Given the description of an element on the screen output the (x, y) to click on. 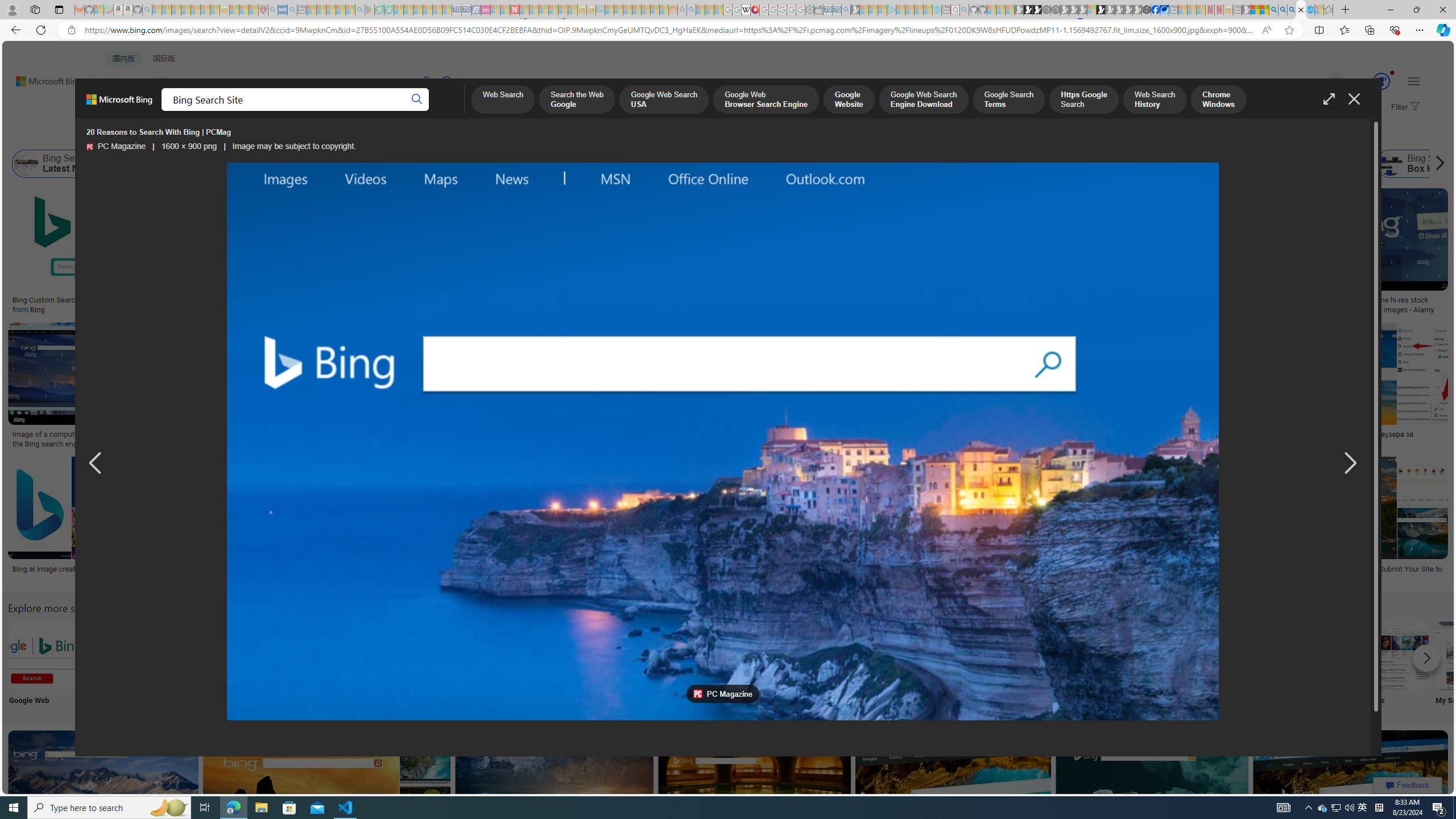
Google Web Search USA (663, 100)
FIX: Downloading proxy script message on Google Chrome (526, 573)
Bing Search Terms (582, 163)
Bing Best Search Engine (826, 163)
Top 10 Search engine | REALITYPOD - Part 3 (939, 434)
Bing Search Tricks Tricks (1319, 665)
App Logo (118, 665)
